Given the description of an element on the screen output the (x, y) to click on. 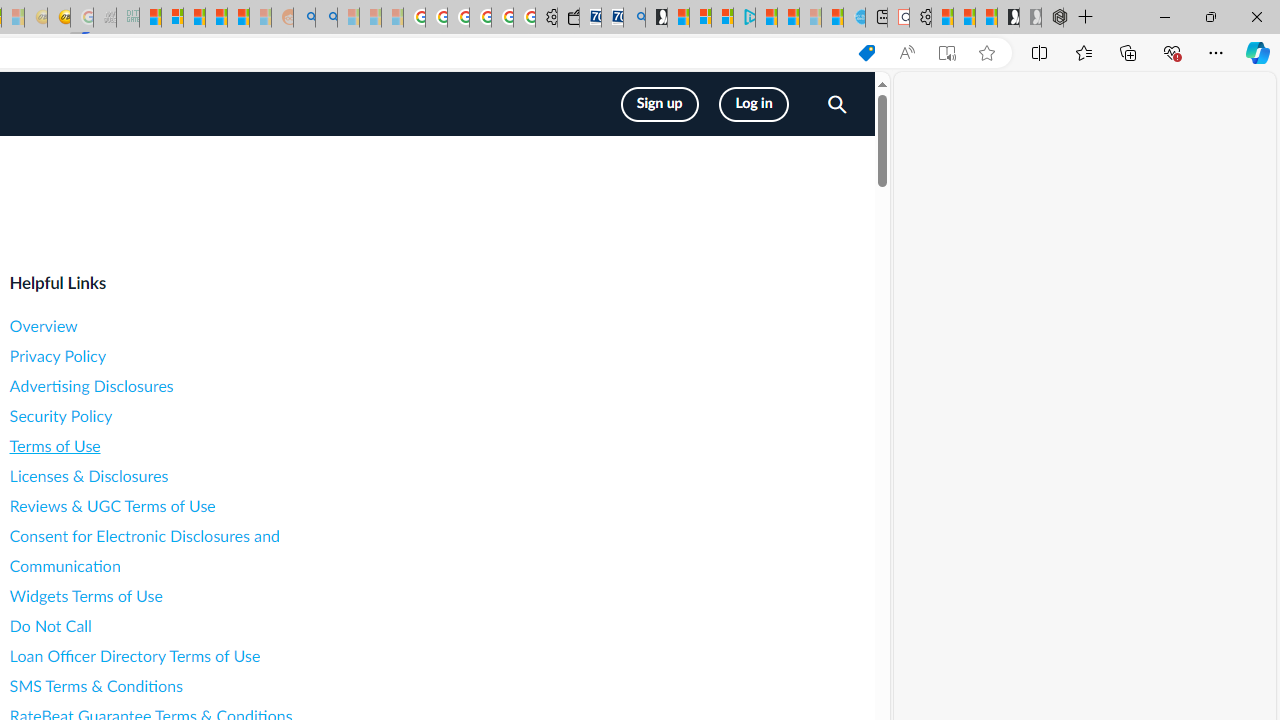
Terms of Use (188, 446)
Do Not Call (188, 626)
Consent for Electronic Disclosures and Communication (188, 551)
